Given the description of an element on the screen output the (x, y) to click on. 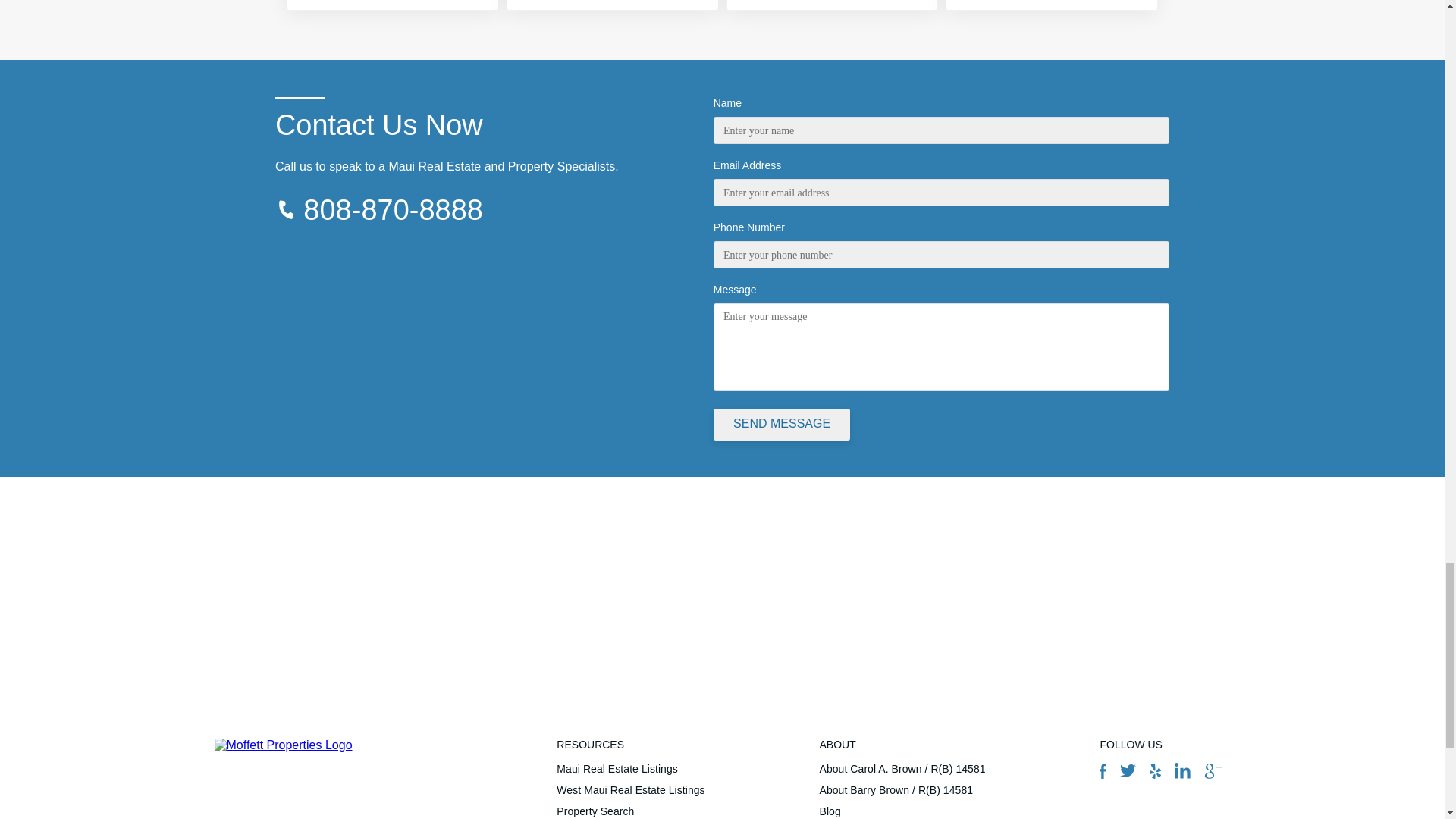
Maui Real Estate Listings (630, 768)
Property Search (630, 809)
West Maui Real Estate Listings (630, 789)
send message (781, 424)
808-870-8888 (392, 210)
send message (781, 424)
